Given the description of an element on the screen output the (x, y) to click on. 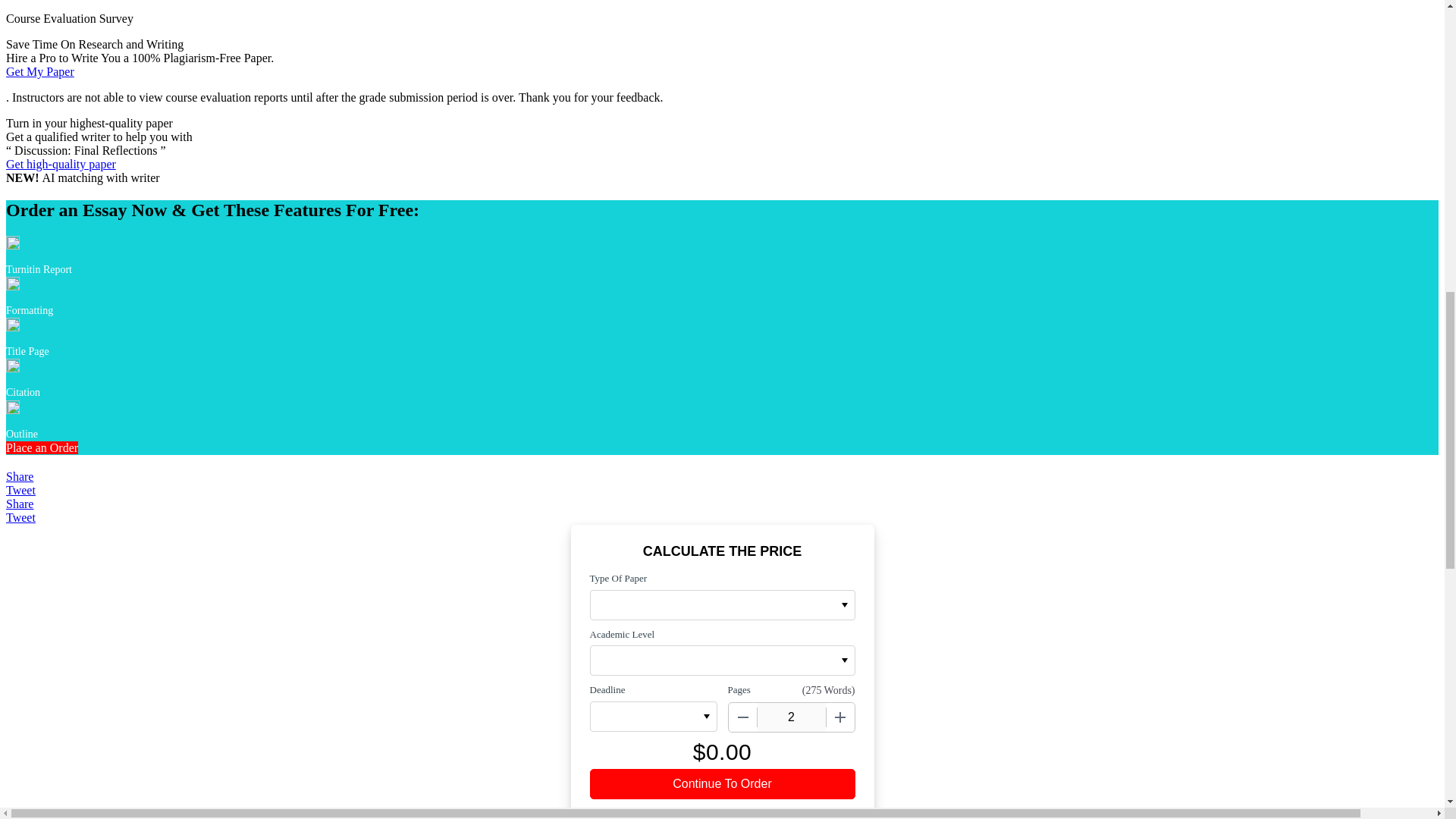
2 (791, 717)
Decrease (742, 717)
Place an Order (41, 447)
Increase (839, 717)
Get high-quality paper (60, 164)
Continue to order (722, 784)
Continue to order (722, 784)
Get My Paper (39, 71)
